Given the description of an element on the screen output the (x, y) to click on. 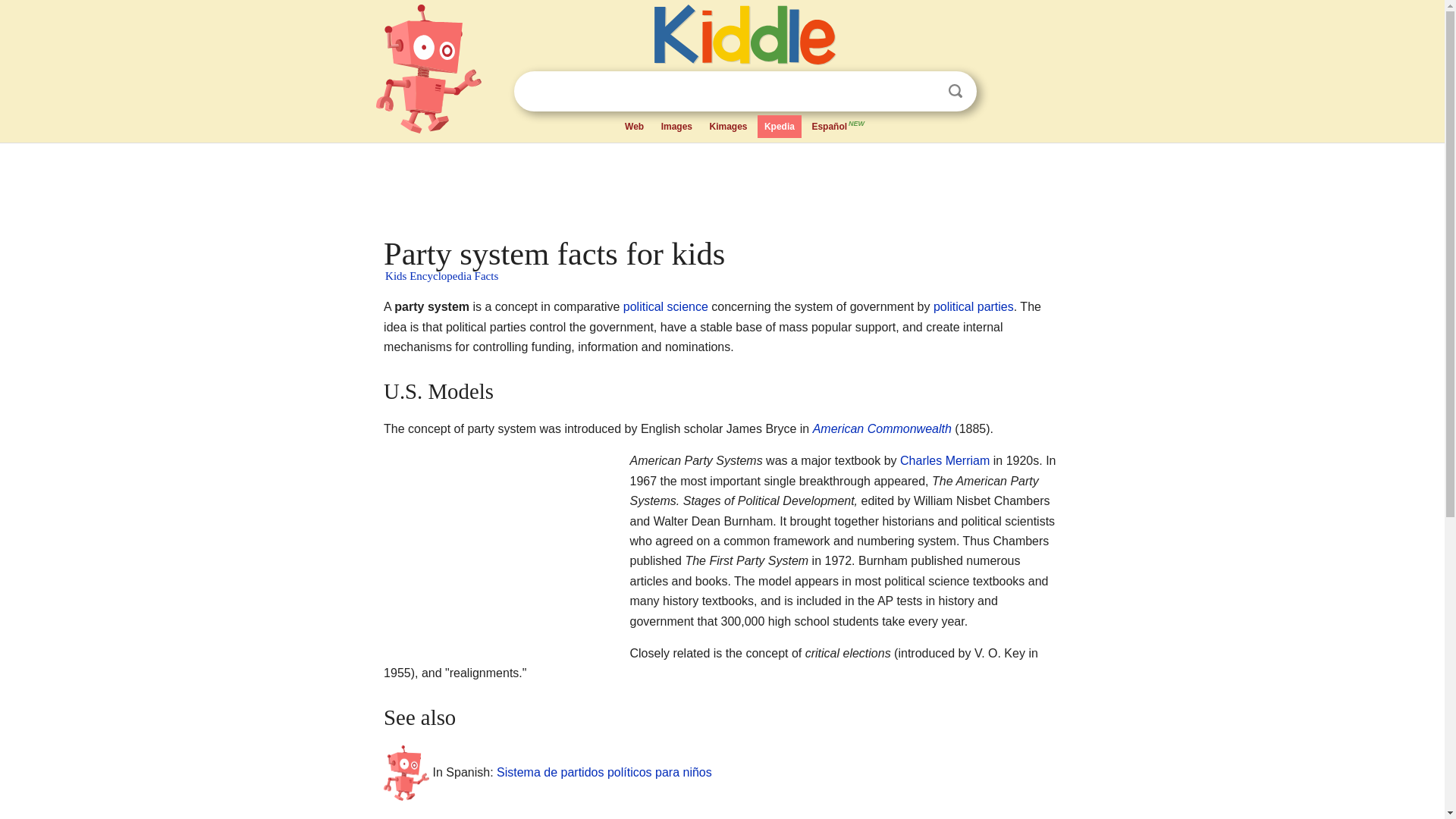
political parties (973, 306)
political science (665, 306)
Political science (665, 306)
Images (675, 126)
American Commonwealth (882, 428)
Search (955, 91)
Kpedia (779, 126)
Kids Encyclopedia Facts (441, 275)
Web (633, 126)
Charles Edward Merriam (944, 460)
